Given the description of an element on the screen output the (x, y) to click on. 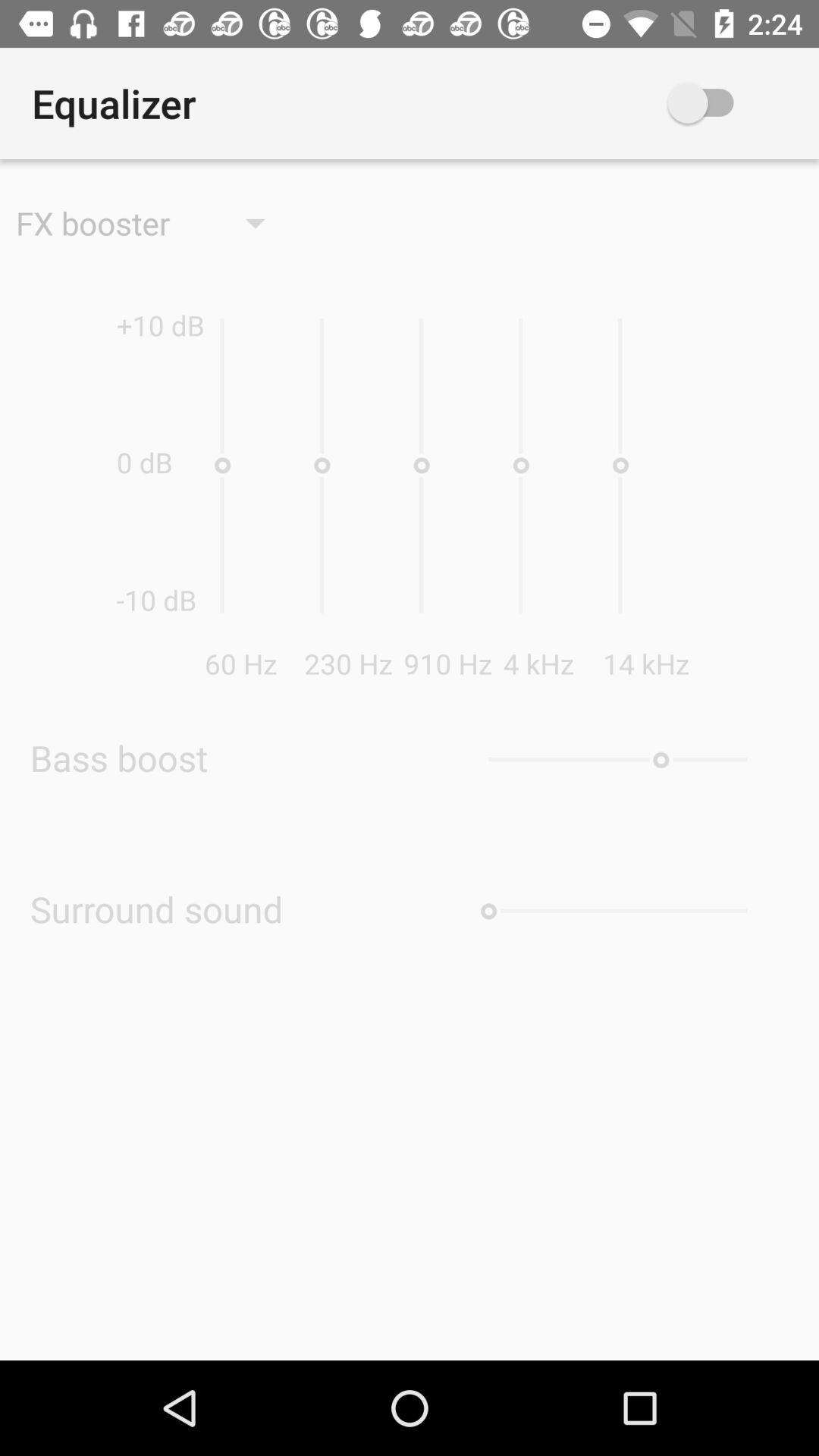
turn off the app above the 14 khz (723, 103)
